Given the description of an element on the screen output the (x, y) to click on. 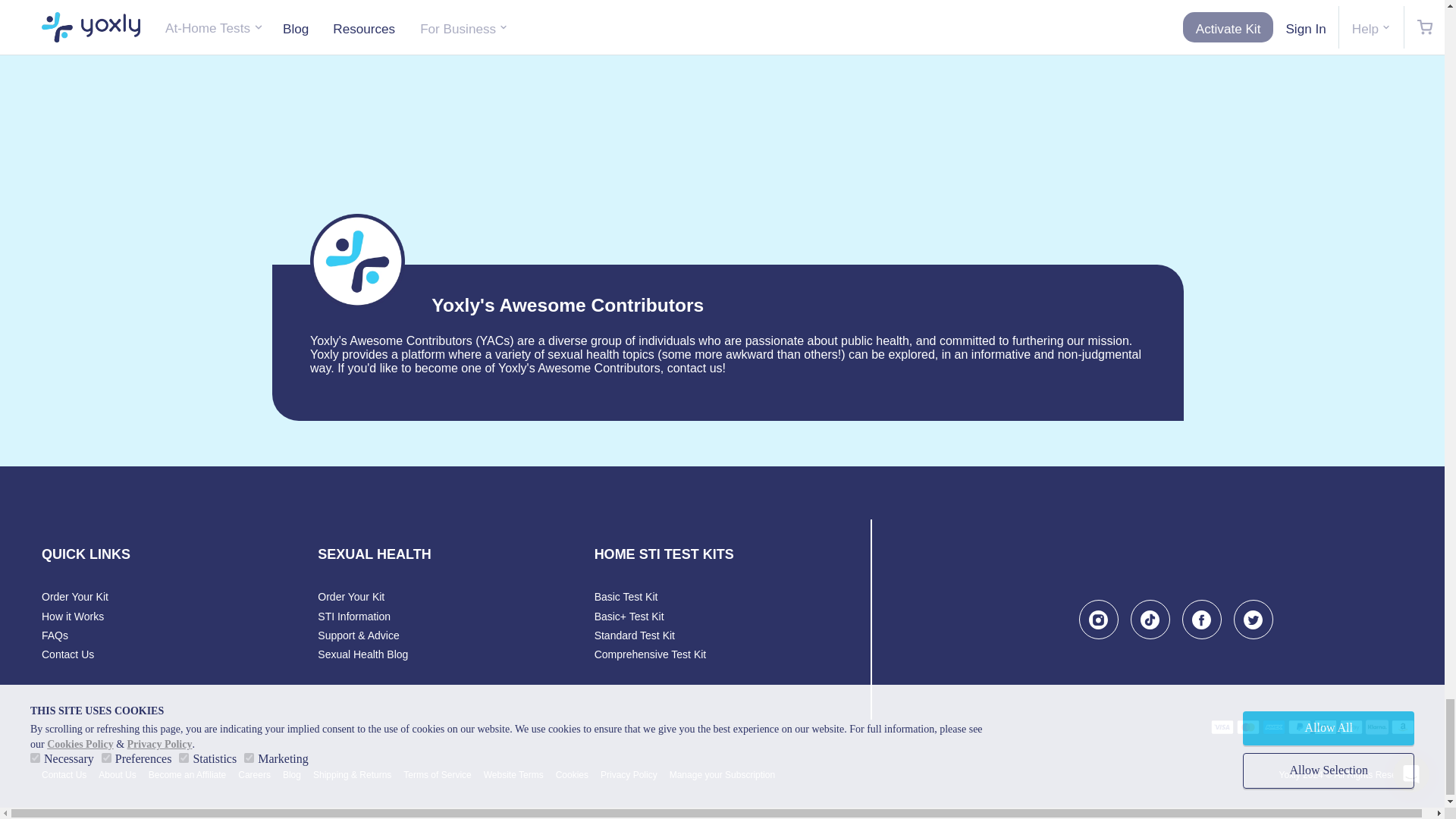
Klarna (1377, 726)
How it Works (72, 616)
Amazon (1402, 726)
Order Your Kit (74, 596)
Apple Pay (1325, 726)
Google Pay (1350, 726)
PayPal (1299, 726)
Visa (1222, 726)
American Express (1273, 726)
Mastercard (1247, 726)
